Given the description of an element on the screen output the (x, y) to click on. 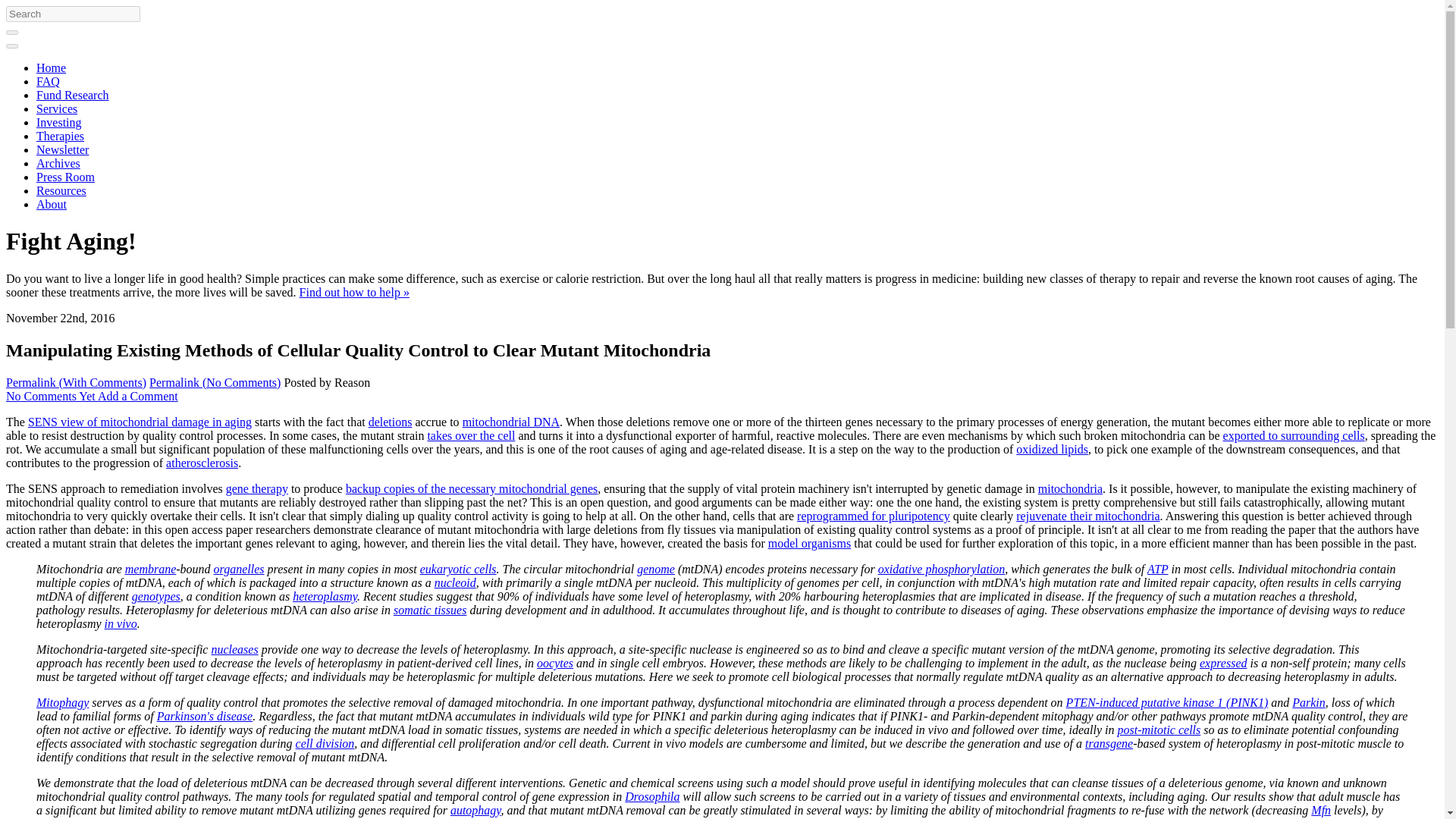
takes over the cell (470, 435)
eukaryotic cells (458, 568)
nucleoid (454, 582)
backup copies of the necessary mitochondrial genes (471, 488)
oxidative phosphorylation (941, 568)
genotypes (156, 595)
model organisms (809, 543)
SENS view of mitochondrial damage in aging (139, 421)
Resources (60, 190)
About (51, 204)
Home (50, 67)
deletions (390, 421)
mitochondrial DNA (511, 421)
reprogrammed for pluripotency (873, 515)
No Comments Yet (51, 395)
